Given the description of an element on the screen output the (x, y) to click on. 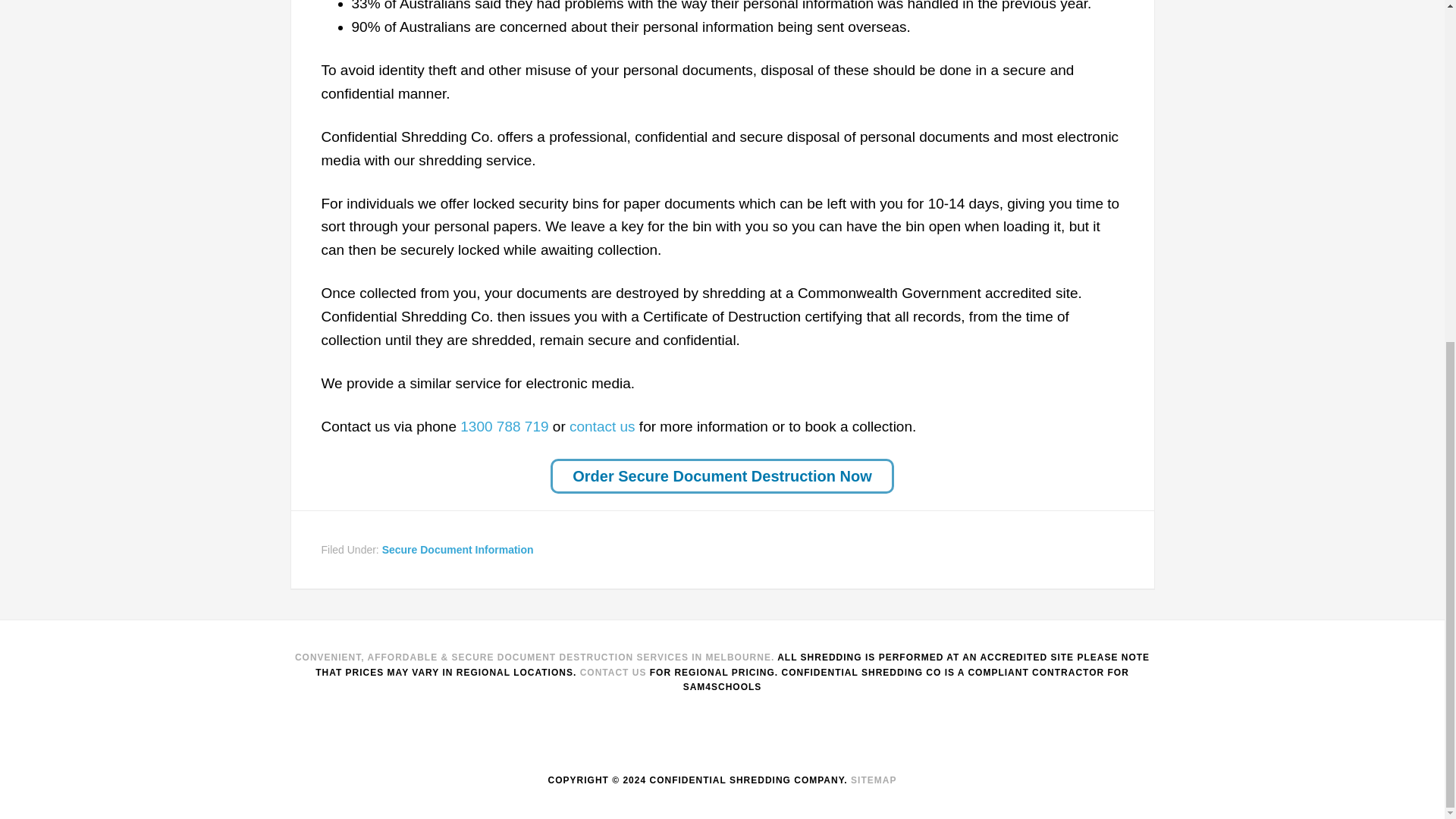
SITEMAP (873, 779)
contact us (601, 426)
Order Secure Document Destruction Now (721, 475)
Secure Document Information (457, 549)
CONTACT US (612, 672)
1300 788 719 (504, 426)
